Given the description of an element on the screen output the (x, y) to click on. 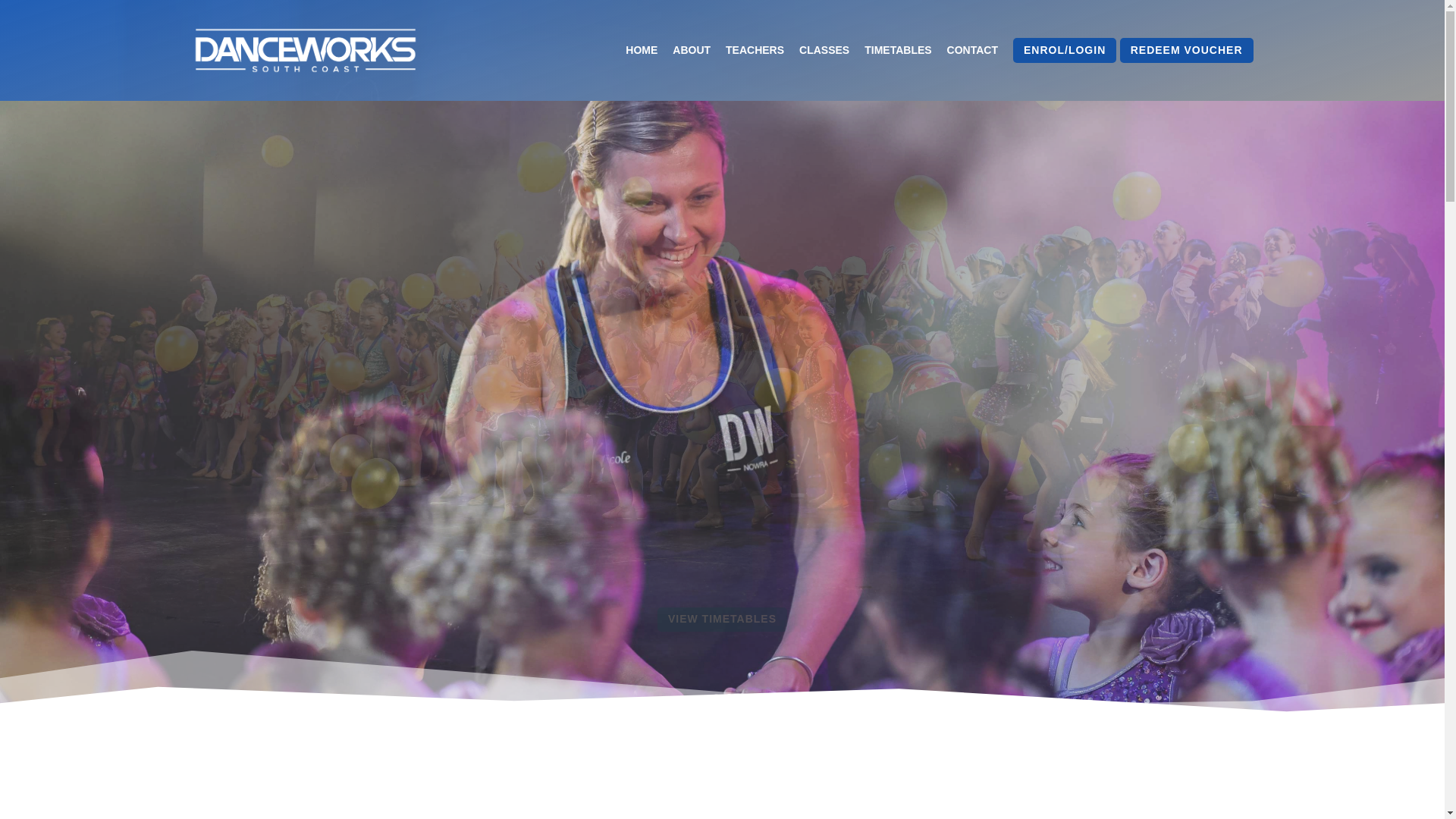
HOME Element type: text (641, 49)
ENROL/LOGIN Element type: text (1064, 49)
CONTACT Element type: text (972, 49)
1 Element type: text (715, 696)
2 Element type: text (728, 696)
TIMETABLES Element type: text (897, 49)
VIEW TIMETABLES Element type: text (722, 619)
ABOUT Element type: text (691, 49)
TEACHERS Element type: text (754, 49)
CLASSES Element type: text (824, 49)
REDEEM VOUCHER Element type: text (1186, 49)
